Given the description of an element on the screen output the (x, y) to click on. 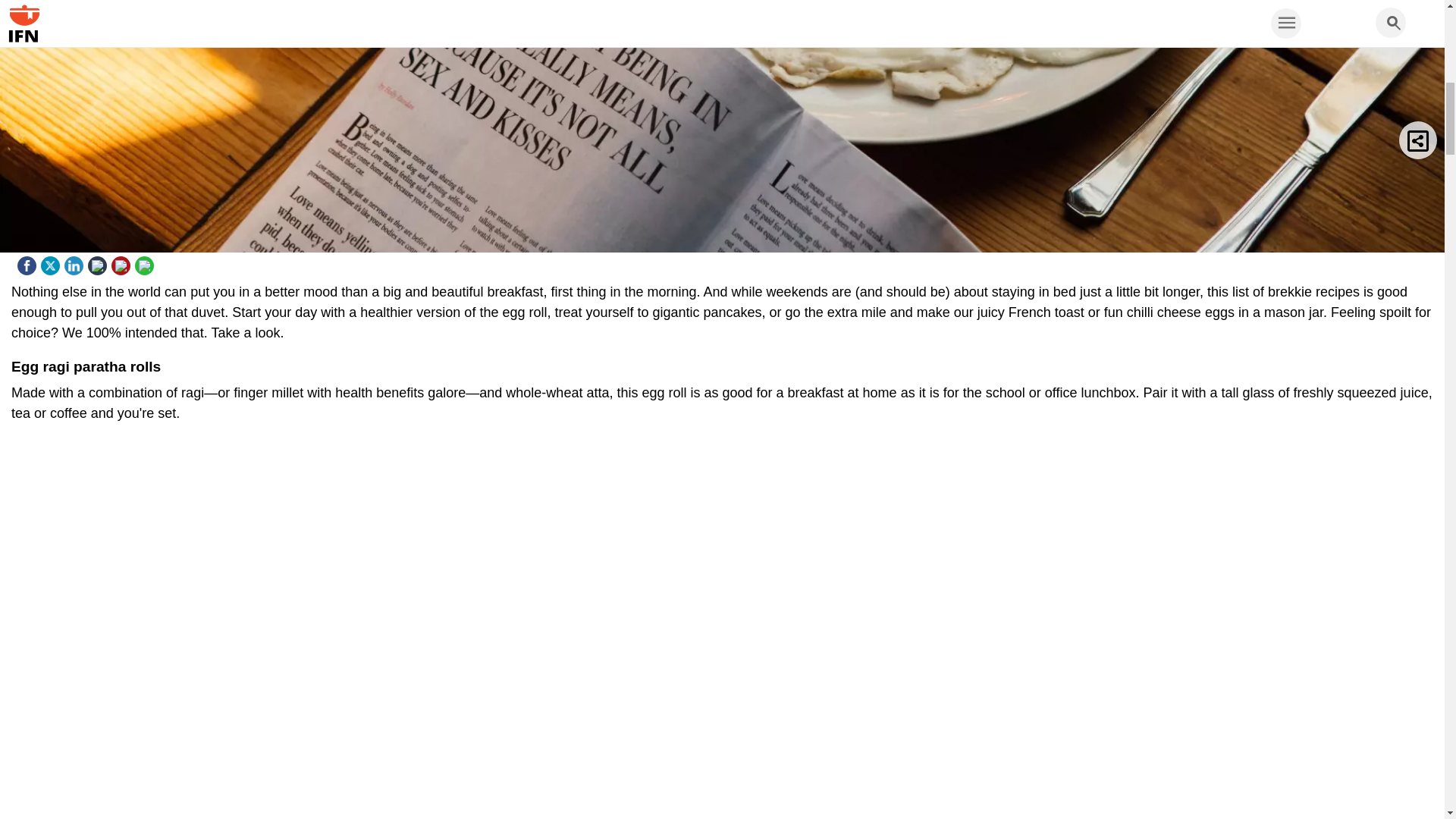
Facebook (28, 261)
Pinterest (123, 261)
Tumblr (98, 261)
Twitter (52, 261)
LinkedIn (75, 261)
